Given the description of an element on the screen output the (x, y) to click on. 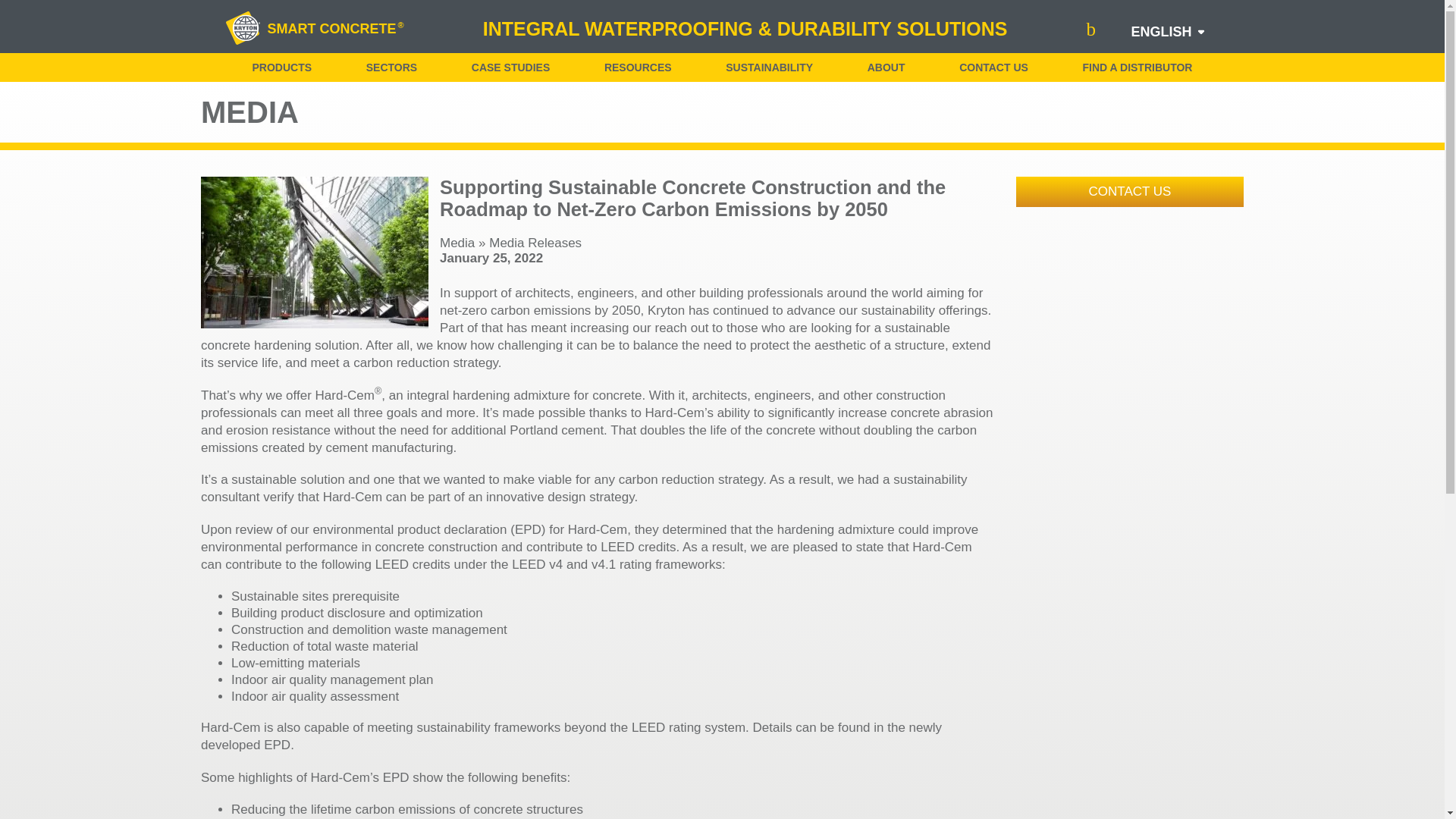
ENGLISH (1161, 31)
PRODUCTS (281, 67)
b (1091, 28)
SECTORS (391, 67)
Kryton (242, 28)
CASE STUDIES (510, 67)
RESOURCES (637, 67)
Media Releases (534, 242)
